Given the description of an element on the screen output the (x, y) to click on. 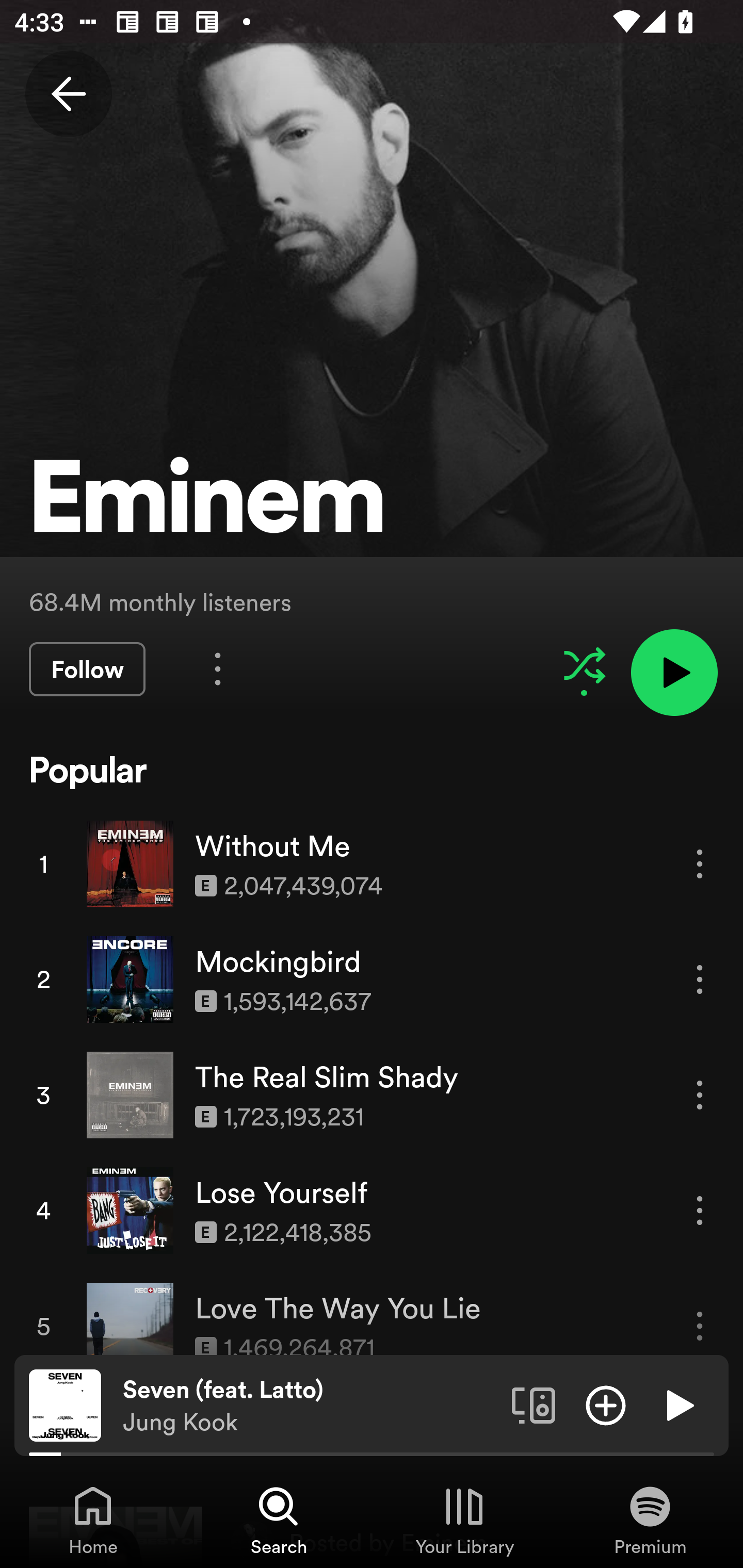
Back (68, 93)
Disable shuffle for this artist (583, 665)
More options for artist Eminem (217, 668)
Play artist (674, 672)
Follow (86, 669)
More options for song Without Me (699, 863)
More options for song Mockingbird (699, 979)
More options for song The Real Slim Shady (699, 1095)
More options for song Lose Yourself (699, 1210)
More options for song Love The Way You Lie (699, 1325)
Seven (feat. Latto) Jung Kook (309, 1405)
The cover art of the currently playing track (64, 1404)
Connect to a device. Opens the devices menu (533, 1404)
Add item (605, 1404)
Play (677, 1404)
Home, Tab 1 of 4 Home Home (92, 1519)
Search, Tab 2 of 4 Search Search (278, 1519)
Your Library, Tab 3 of 4 Your Library Your Library (464, 1519)
Premium, Tab 4 of 4 Premium Premium (650, 1519)
